Given the description of an element on the screen output the (x, y) to click on. 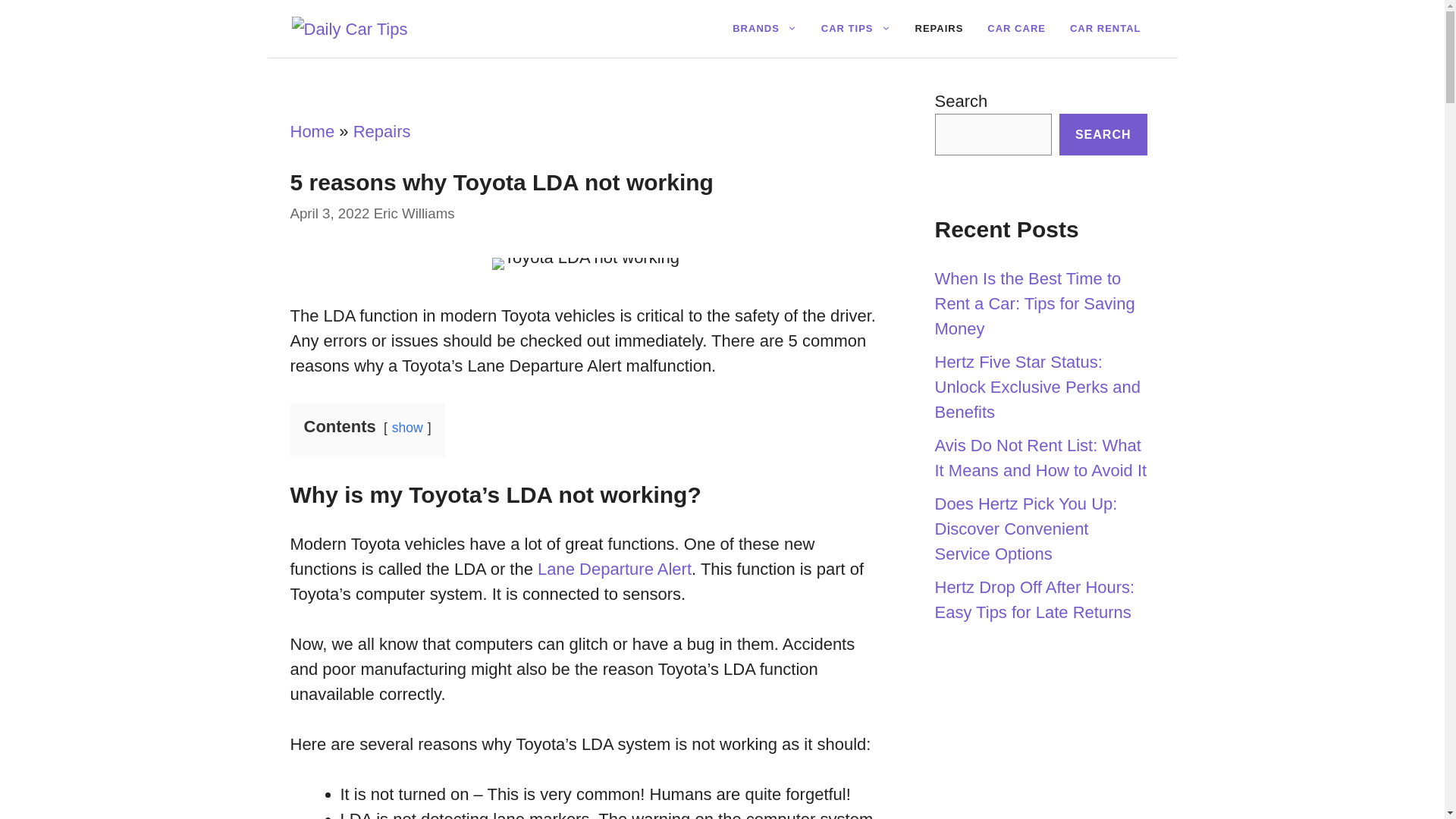
show (407, 427)
Eric Williams (414, 213)
Eric Williams (414, 213)
Repairs (381, 131)
CAR RENTAL (1105, 28)
Home (311, 131)
CAR TIPS (855, 28)
CAR CARE (1016, 28)
REPAIRS (938, 28)
BRANDS (764, 28)
